Given the description of an element on the screen output the (x, y) to click on. 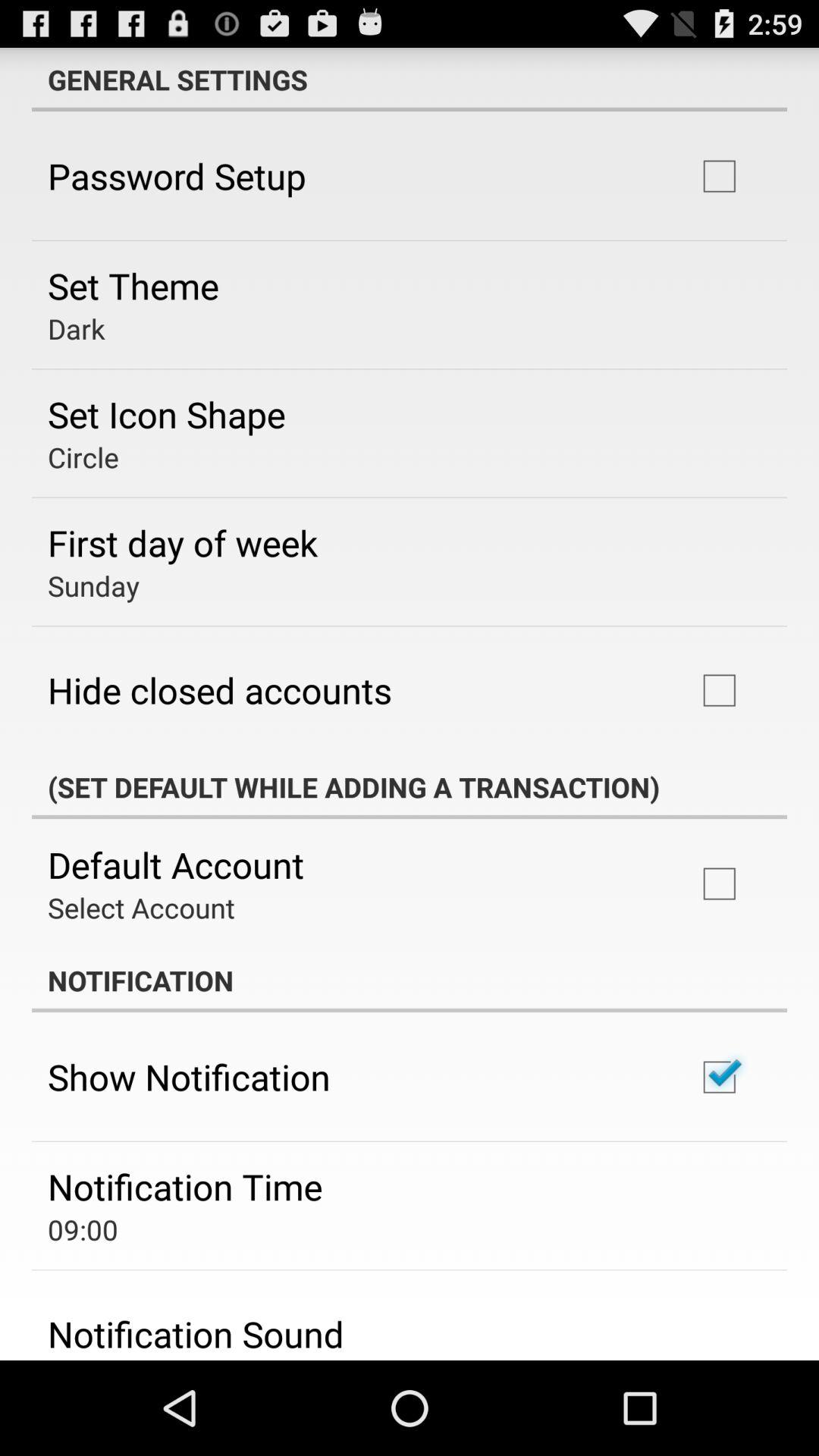
scroll to the notification sound icon (195, 1333)
